Given the description of an element on the screen output the (x, y) to click on. 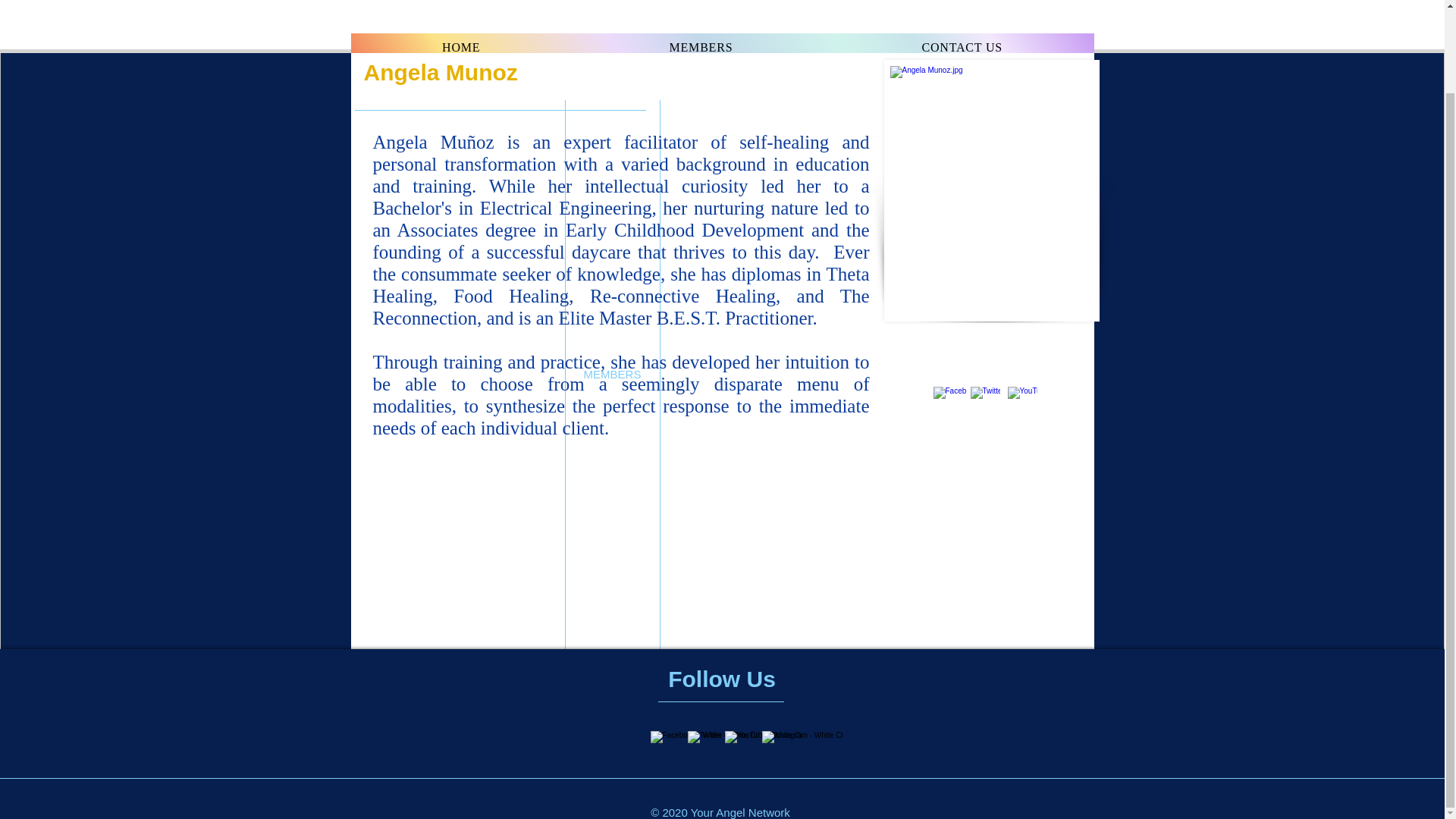
MEMBERS (721, 47)
HOME (701, 47)
CONTACT US (460, 47)
